Given the description of an element on the screen output the (x, y) to click on. 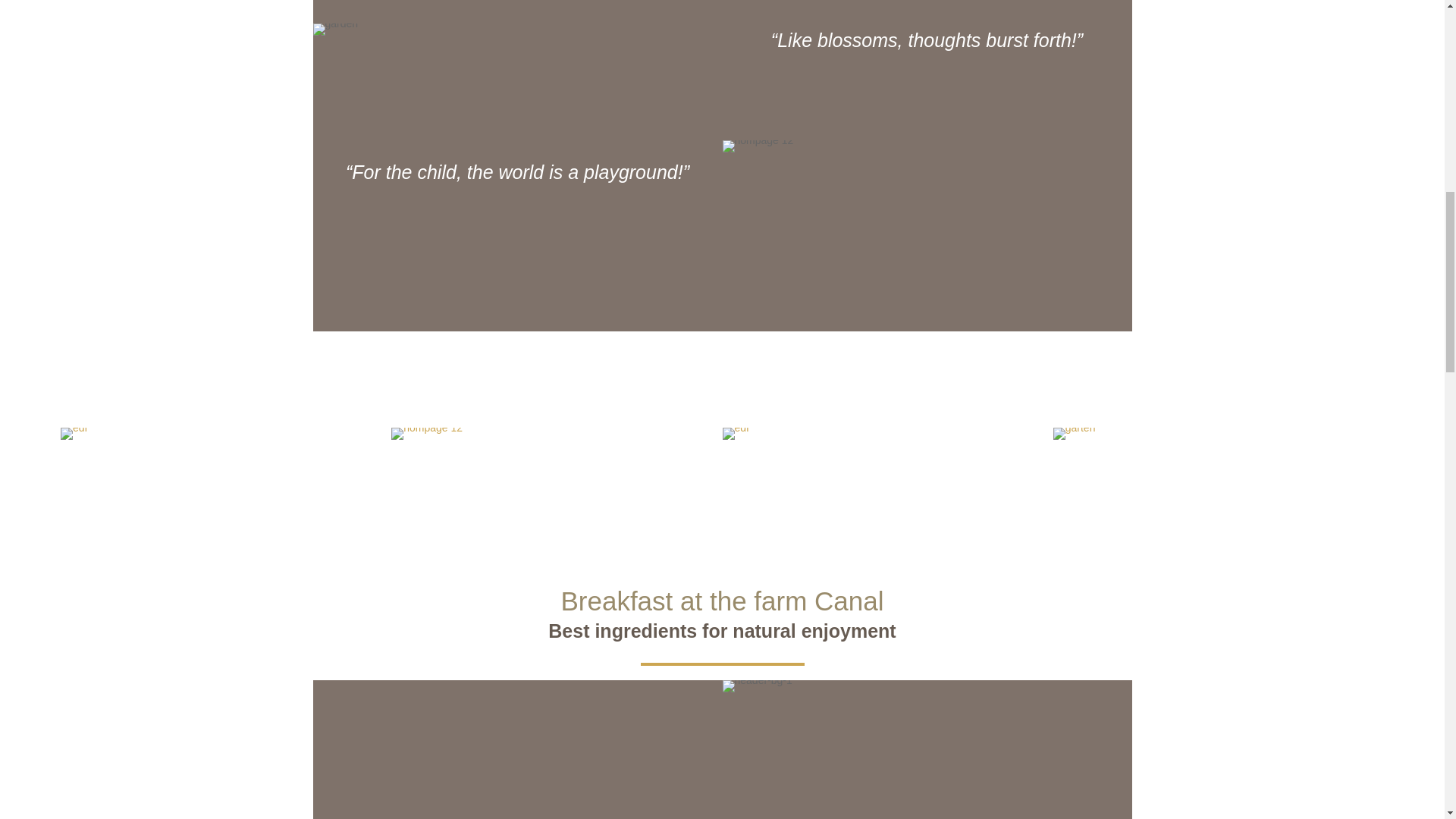
garden (335, 29)
hompage 12 (757, 146)
header-bg-1 (757, 686)
edf (74, 427)
hompage 12 (427, 427)
garten (1074, 427)
edf (735, 427)
